Given the description of an element on the screen output the (x, y) to click on. 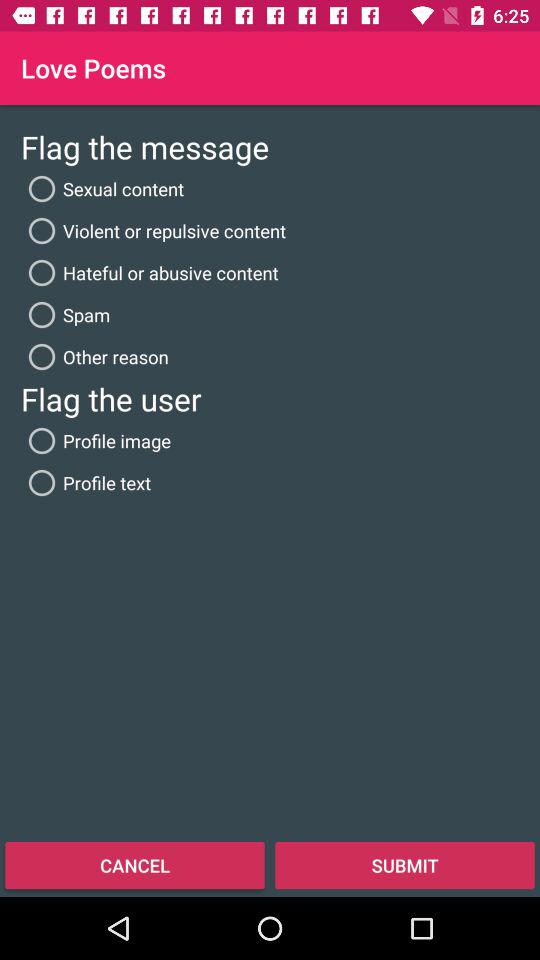
turn off item above spam icon (149, 272)
